Given the description of an element on the screen output the (x, y) to click on. 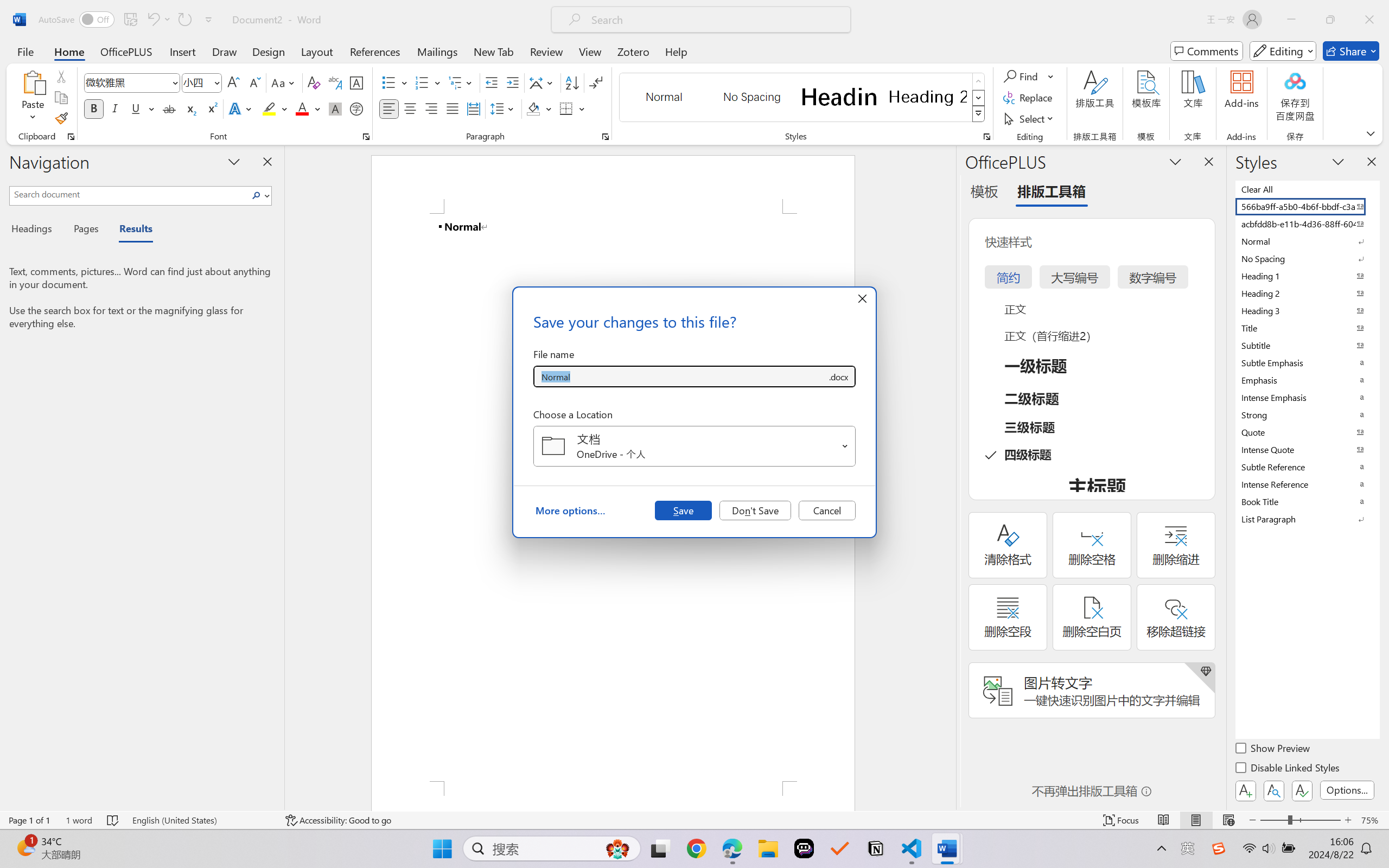
Justify (452, 108)
Decrease Indent (491, 82)
Google Chrome (696, 848)
Font... (365, 136)
Change Case (284, 82)
Intense Reference (1306, 484)
Notion (875, 848)
Class: MsoCommandBar (694, 819)
Print Layout (1196, 819)
Enclose Characters... (356, 108)
Find (1022, 75)
Pages (85, 229)
Text Highlight Color Yellow (269, 108)
